Given the description of an element on the screen output the (x, y) to click on. 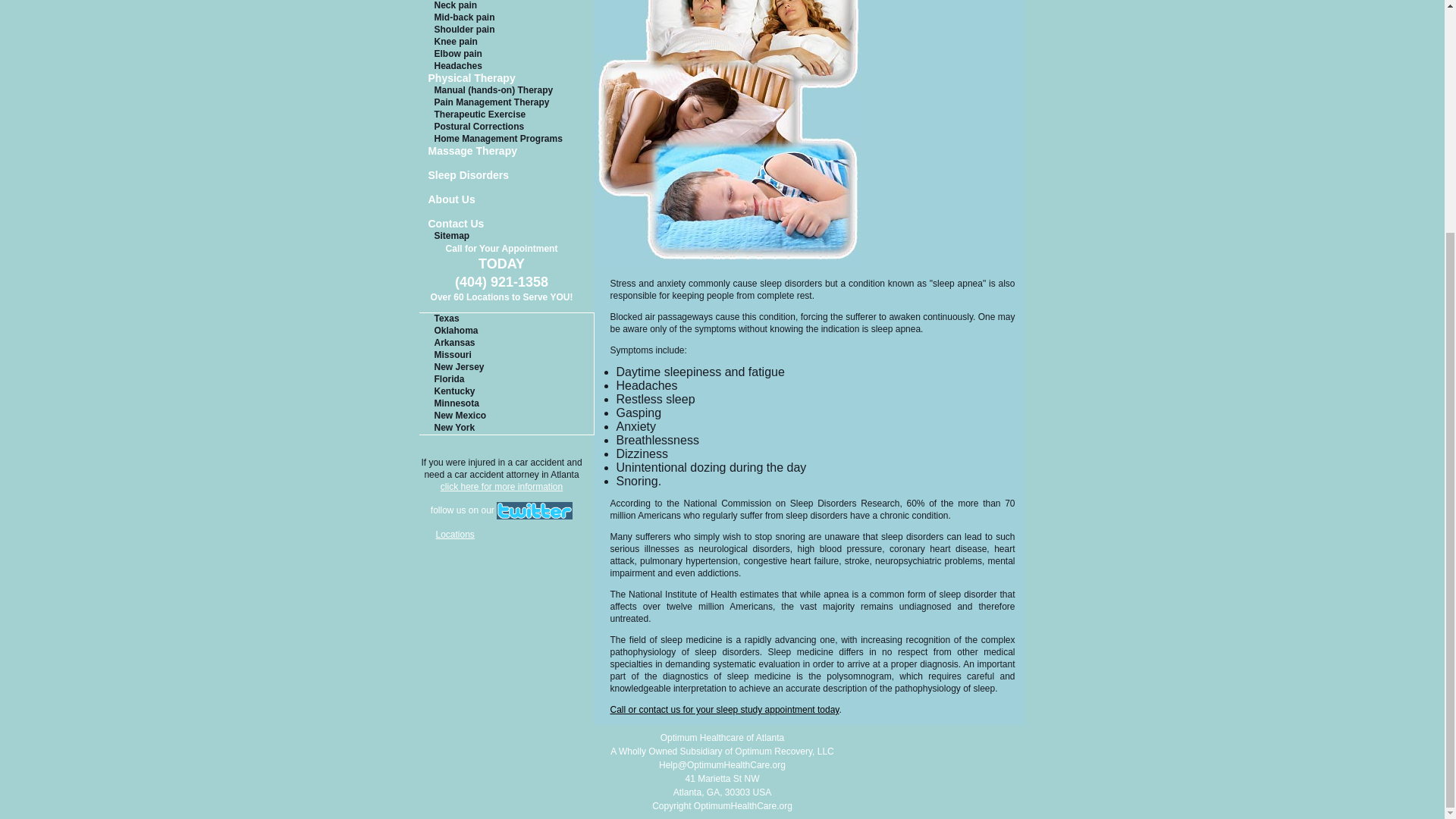
Sitemap (506, 236)
Therapeutic Exercise (506, 114)
Headaches (506, 66)
Texas (505, 318)
Neck pain (506, 6)
Sleep Disorders (506, 176)
About Us (506, 201)
Mid-back pain (506, 18)
Locations (454, 534)
Massage Therapy (506, 151)
Elbow pain (506, 54)
Car Accident Attorneys in Atlanta (501, 486)
Physical Therapy (506, 79)
Home Management Programs (506, 139)
